Given the description of an element on the screen output the (x, y) to click on. 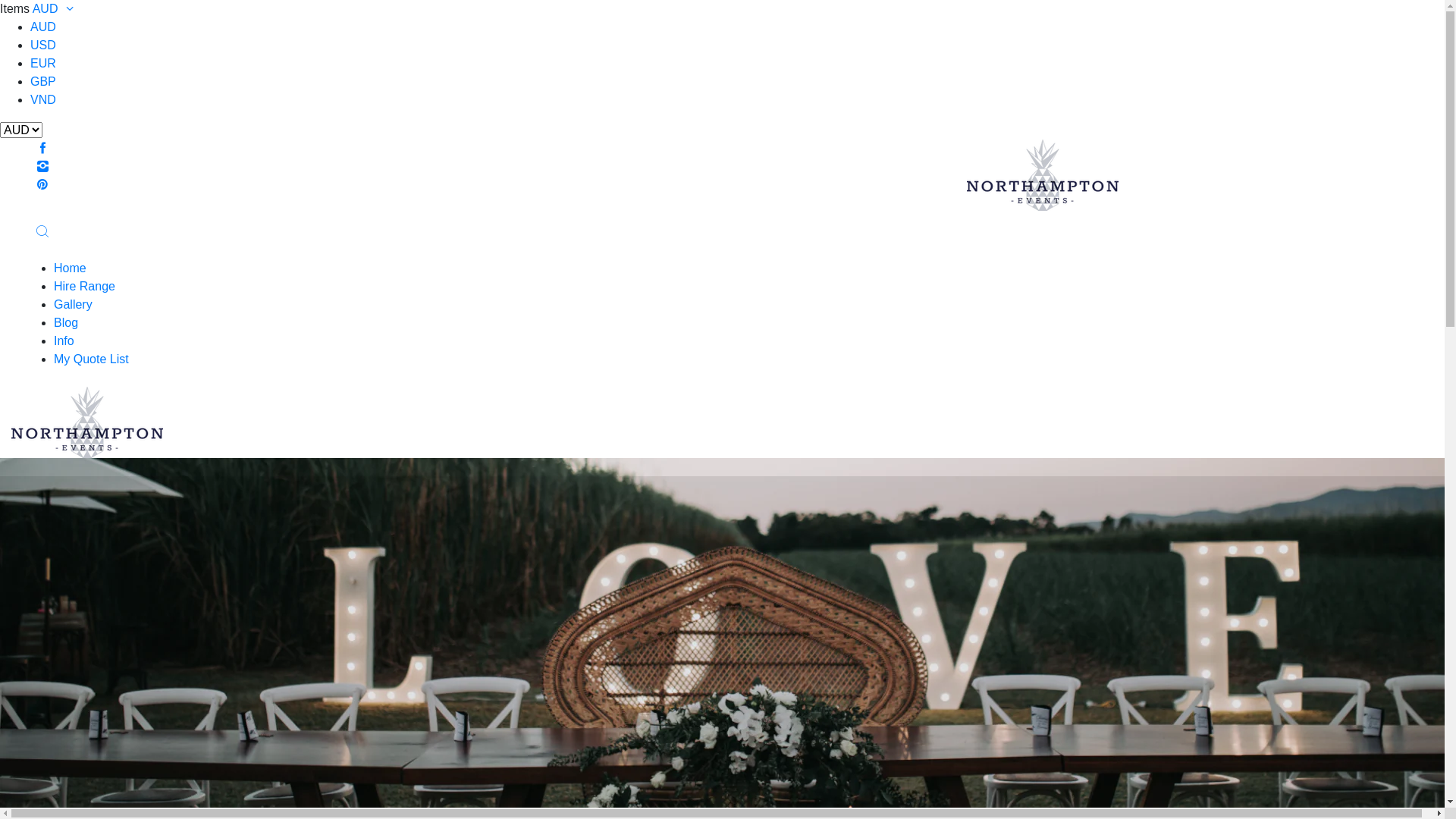
My Quote List Element type: text (90, 358)
VND Element type: text (43, 99)
Pinterest Element type: hover (42, 184)
Facebook Element type: hover (42, 147)
Instagram Element type: hover (42, 166)
Hire Range Element type: text (84, 285)
AUD Element type: text (43, 26)
Info Element type: text (63, 340)
USD Element type: text (43, 44)
Blog Element type: text (65, 322)
AUD Element type: text (55, 8)
EUR Element type: text (43, 62)
Northampton Events Element type: hover (87, 420)
Northampton Events Element type: hover (1042, 173)
Home Element type: text (69, 267)
GBP Element type: text (43, 81)
Gallery Element type: text (72, 304)
